Given the description of an element on the screen output the (x, y) to click on. 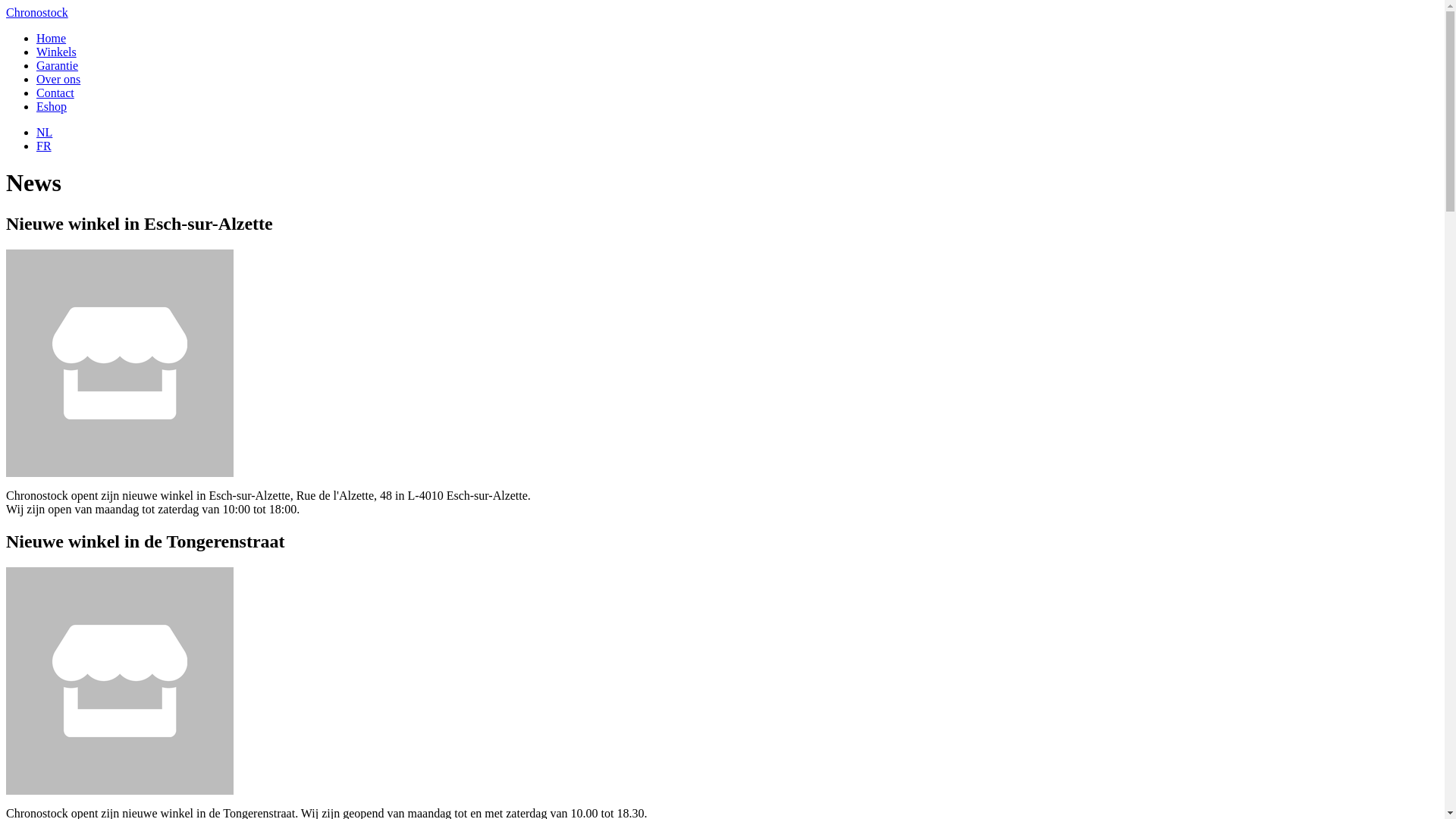
Home Element type: text (50, 37)
Garantie Element type: text (57, 65)
Over ons Element type: text (58, 78)
Chronostock Element type: text (37, 12)
Winkels Element type: text (56, 51)
NL Element type: text (44, 131)
FR Element type: text (43, 145)
Eshop Element type: text (51, 106)
Contact Element type: text (55, 92)
